Given the description of an element on the screen output the (x, y) to click on. 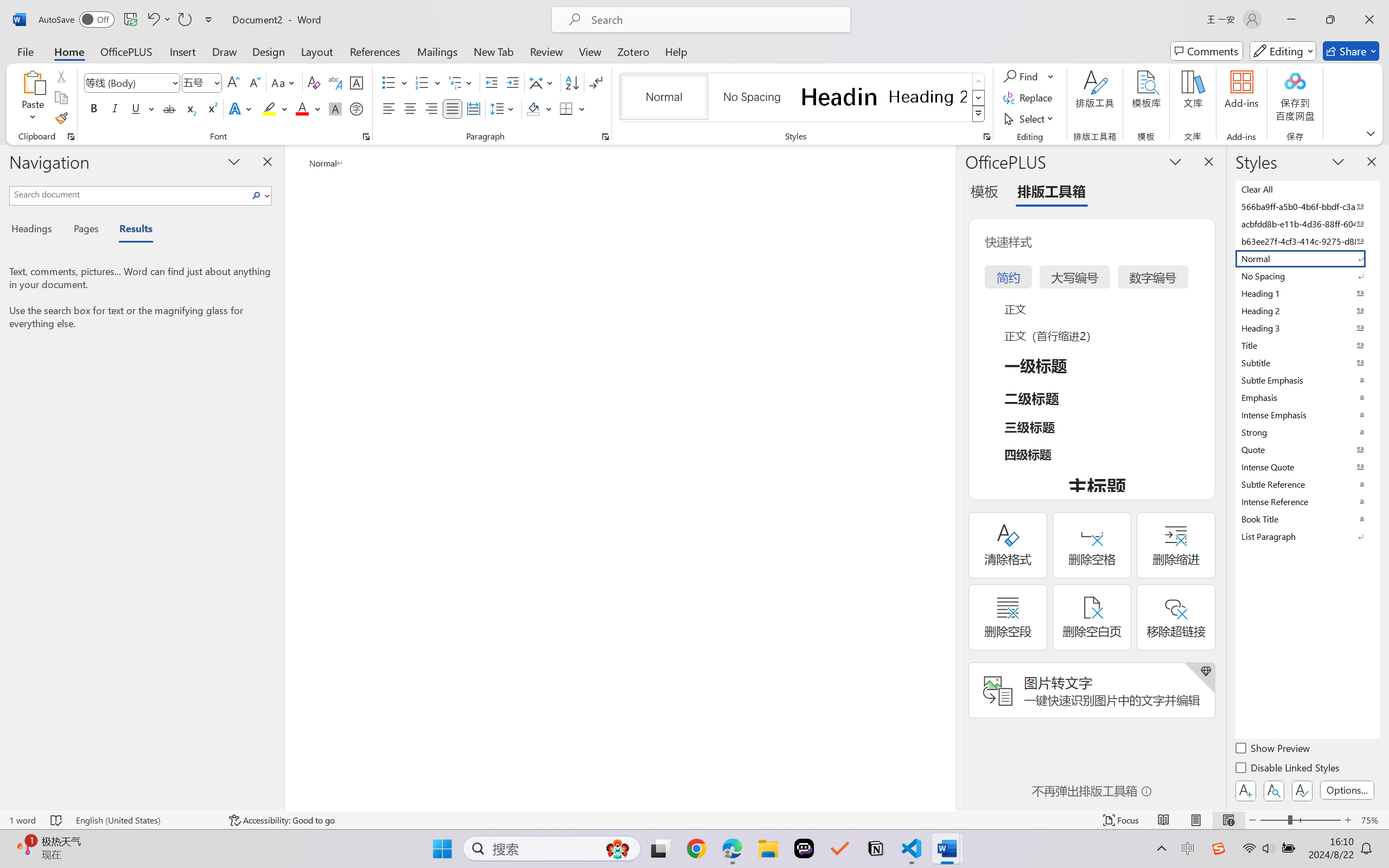
Line and Paragraph Spacing (503, 108)
Undo Apply Quick Style (152, 19)
Zotero (632, 51)
References (375, 51)
Strong (1306, 431)
Options... (1346, 789)
Character Border (356, 82)
Font Color Red (302, 108)
AutomationID: DynamicSearchBoxGleamImage (617, 848)
